Given the description of an element on the screen output the (x, y) to click on. 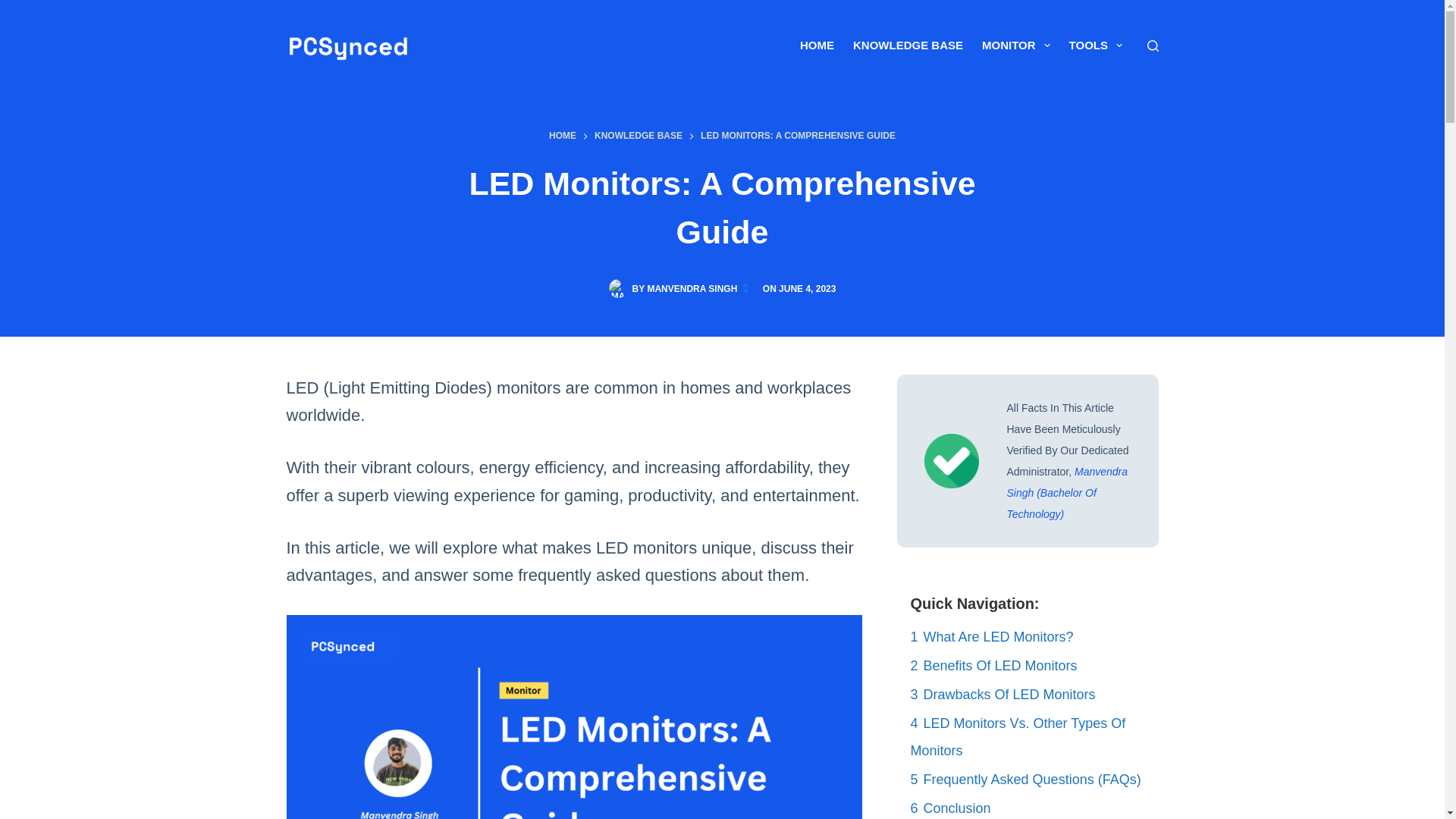
Posts by Manvendra Singh (696, 288)
MONITOR (1015, 45)
LED Monitors: A Comprehensive Guide (722, 207)
KNOWLEDGE BASE (908, 45)
Skip to content (15, 7)
